Given the description of an element on the screen output the (x, y) to click on. 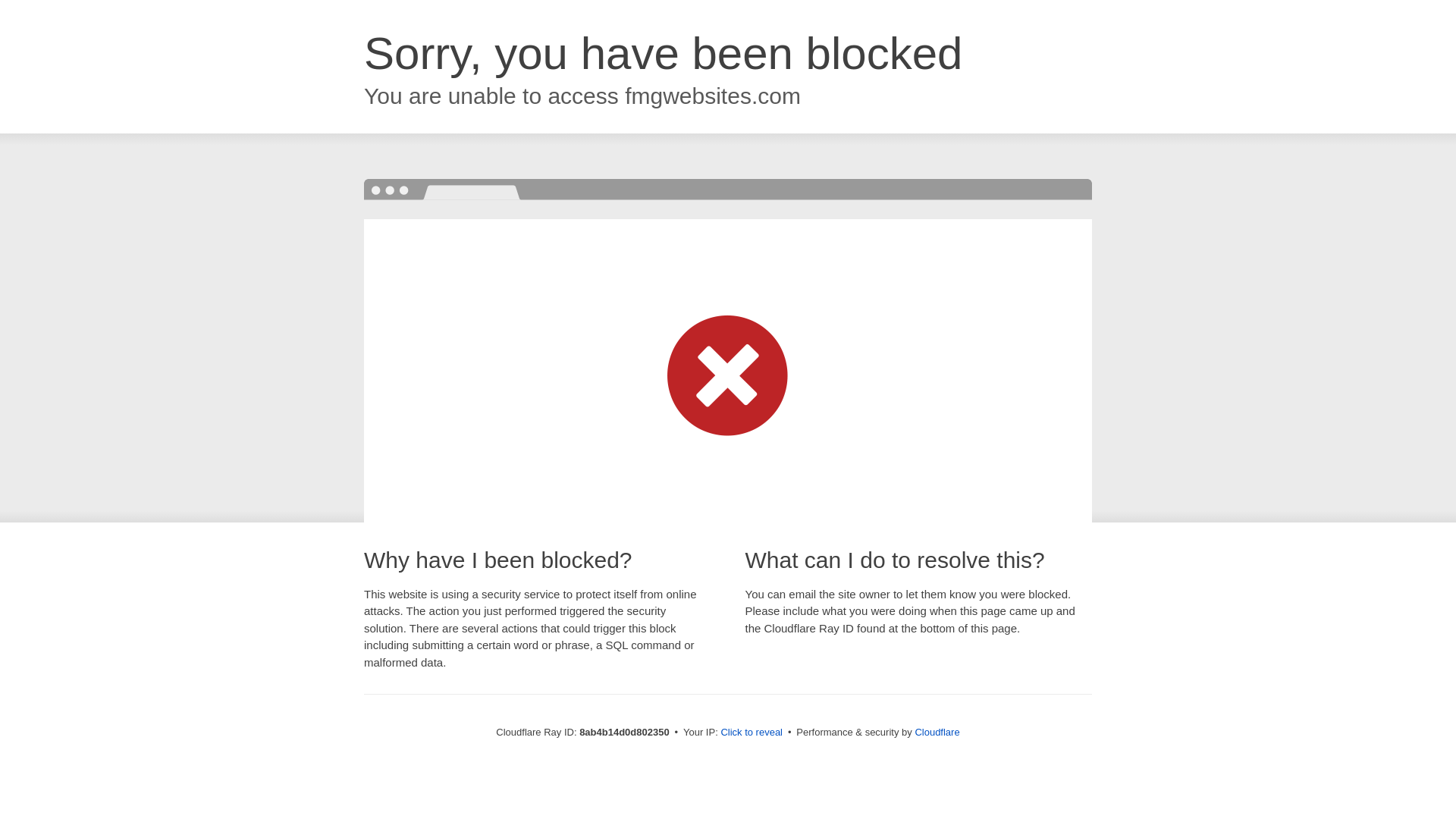
Cloudflare (936, 731)
Click to reveal (751, 732)
